Given the description of an element on the screen output the (x, y) to click on. 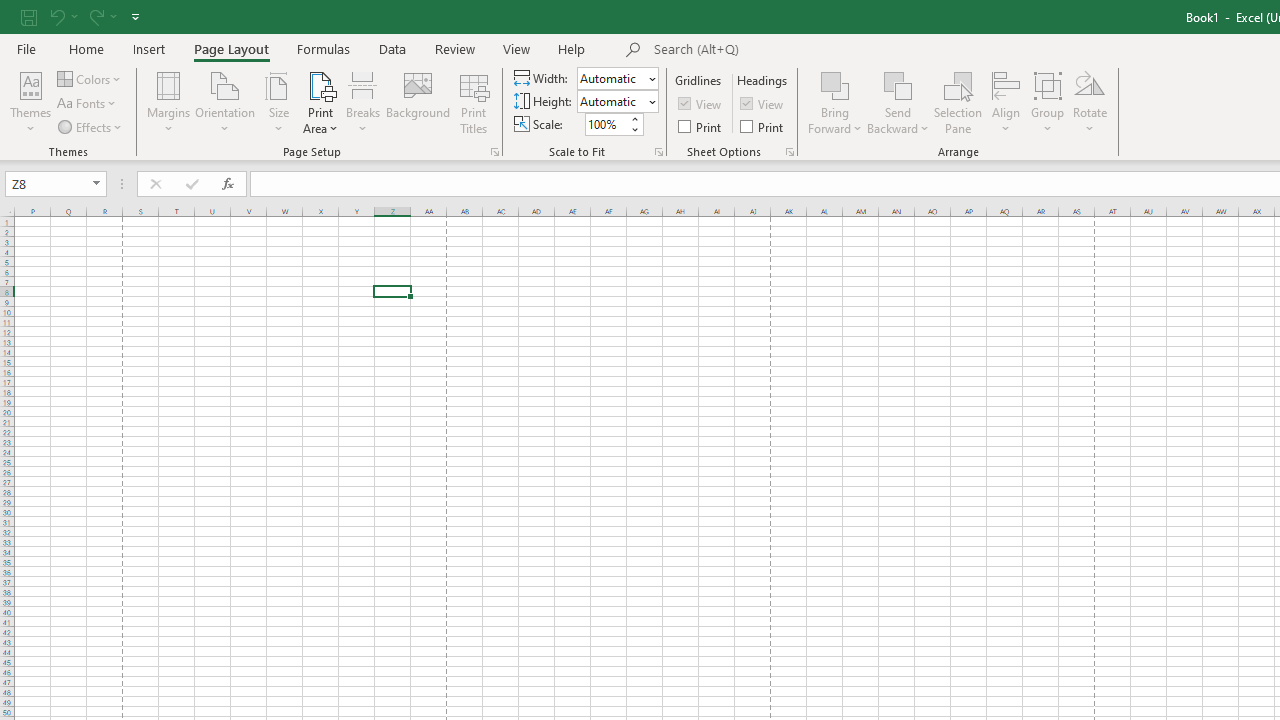
Selection Pane... (958, 102)
Send Backward (898, 102)
Effects (91, 126)
Print (763, 126)
Sheet Options (789, 151)
Print Area (320, 102)
More (633, 118)
